Given the description of an element on the screen output the (x, y) to click on. 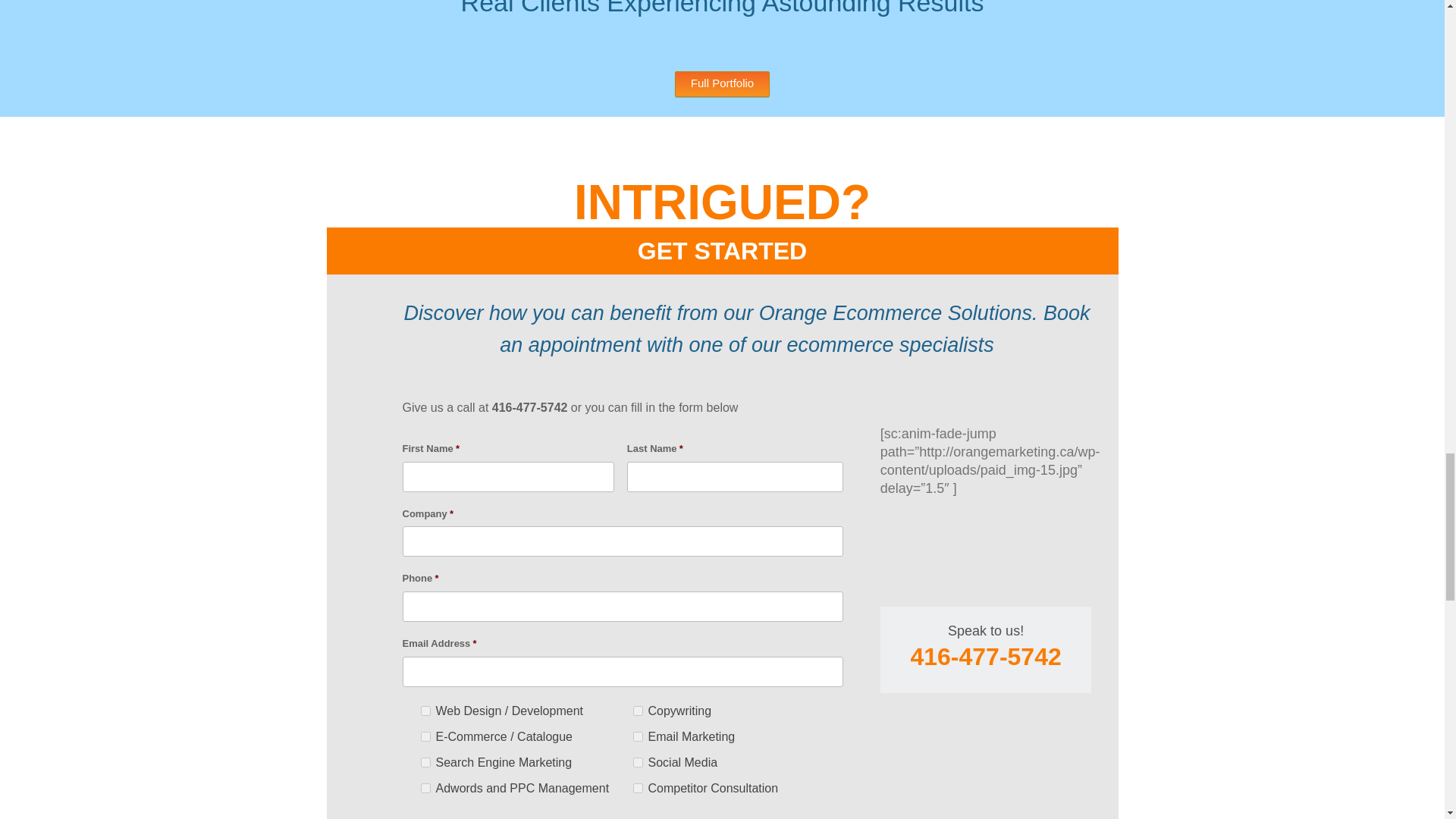
Email Marketing (636, 737)
Adwords and PPC Management (424, 787)
Competitor Consultation (636, 787)
Copywriting (636, 710)
Social Media (636, 762)
Search Engine Marketing (424, 762)
